Given the description of an element on the screen output the (x, y) to click on. 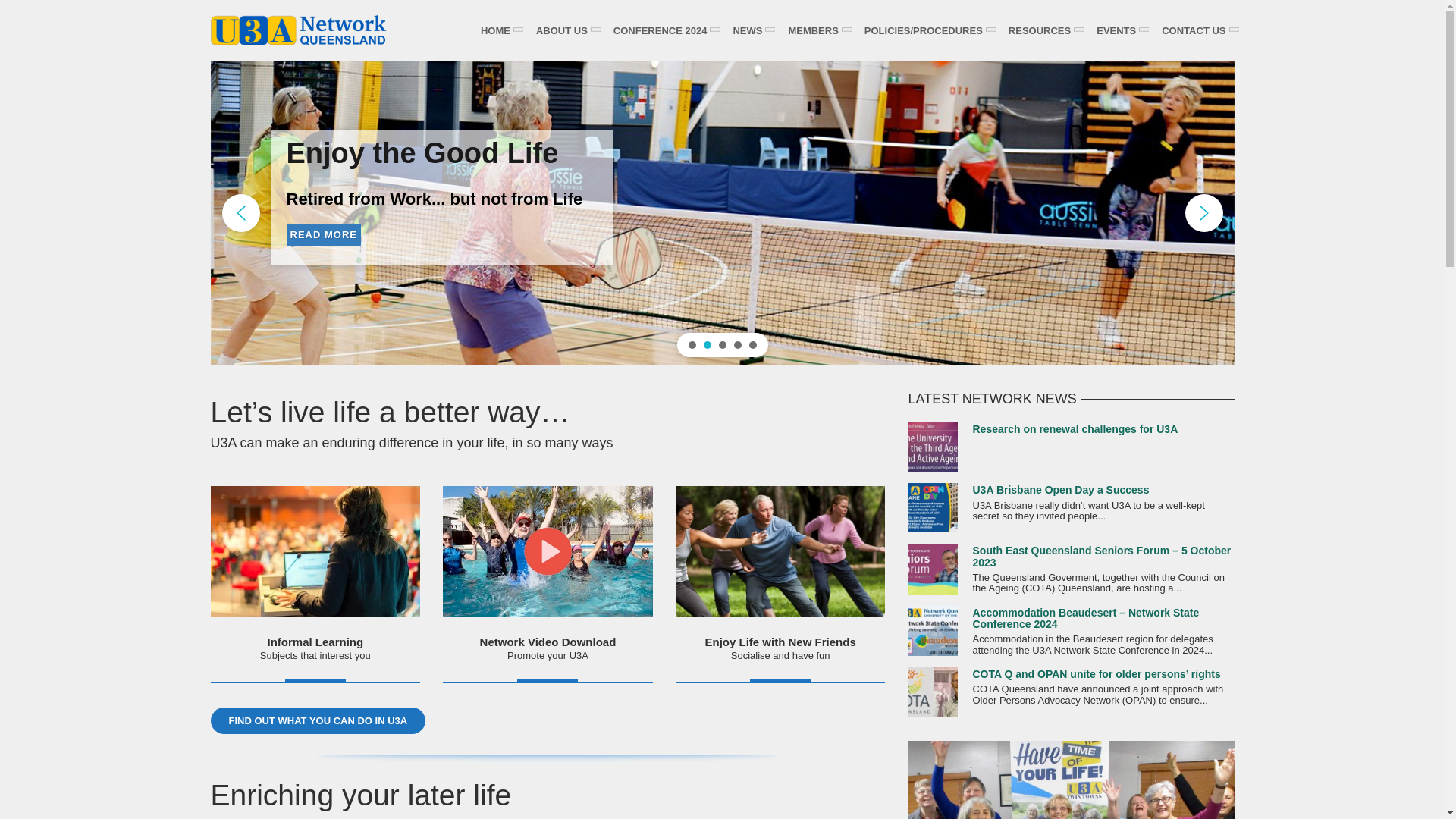
ABOUT US Element type: text (565, 29)
NEWS Element type: text (750, 29)
U3A Brisbane Open Day a Success Element type: text (1060, 489)
RESOURCES Element type: text (1043, 29)
EVENTS Element type: text (1119, 29)
POLICIES/PROCEDURES Element type: text (927, 29)
MEMBERS Element type: text (816, 29)
READ MORE Element type: text (341, 251)
Research on renewal challenges for U3A Element type: text (1074, 429)
CONFERENCE 2024 Element type: text (664, 29)
HOME Element type: text (499, 29)
CONTACT US Element type: text (1197, 29)
FIND OUT WHAT YOU CAN DO IN U3A Element type: text (318, 720)
